Given the description of an element on the screen output the (x, y) to click on. 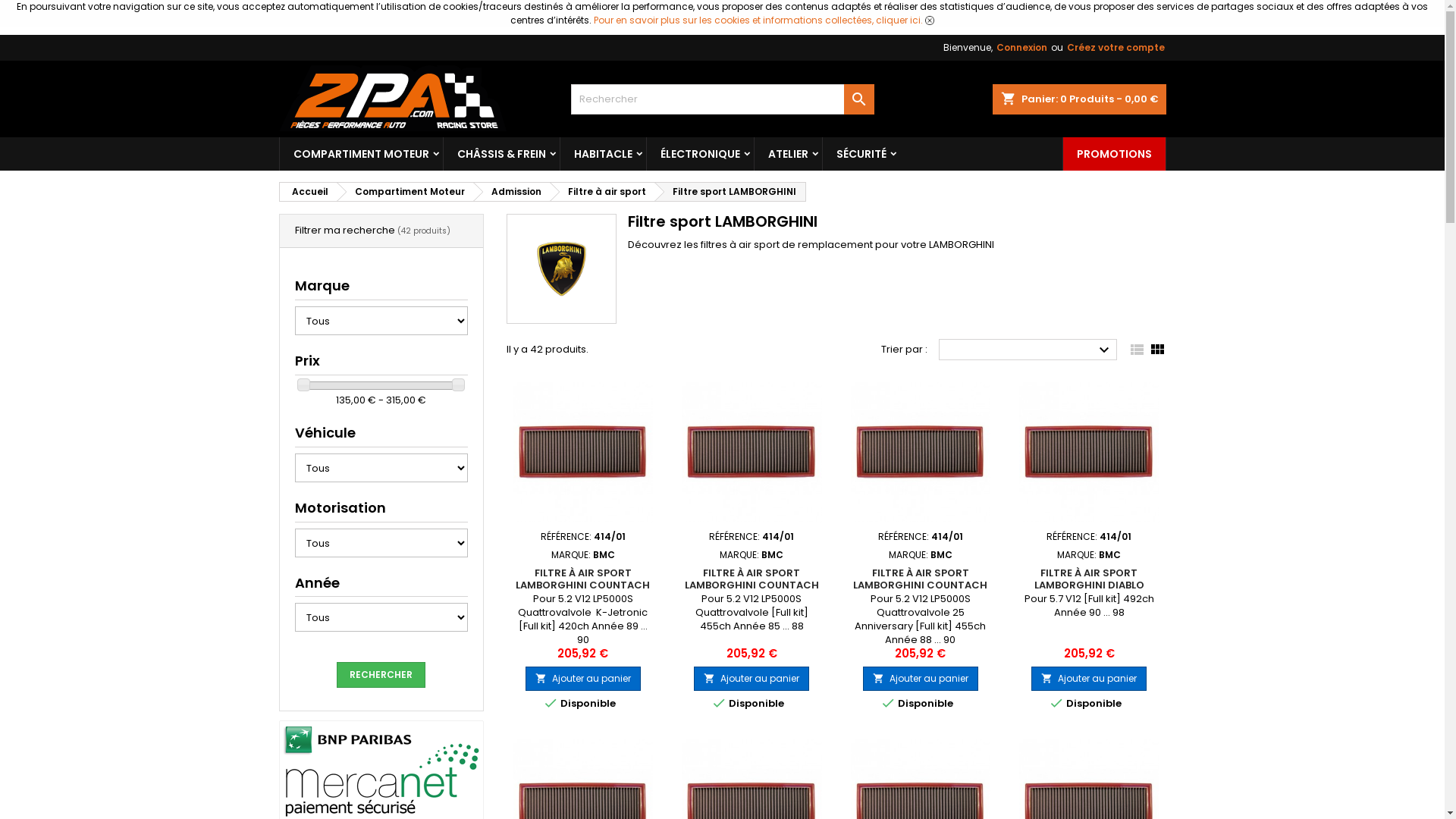
Rechercher Element type: text (380, 674)
ATELIER Element type: text (787, 153)
Admission Element type: text (511, 191)
BMC Element type: text (604, 553)
PROMOTIONS Element type: text (1114, 153)
Compartiment Moteur Element type: text (405, 191)
COMPARTIMENT MOTEUR Element type: text (360, 153)
Filtre sport LAMBORGHINI Element type: text (729, 191)
Accueil Element type: text (307, 191)
HABITACLE Element type: text (602, 153)
BMC Element type: text (772, 553)
BMC Element type: text (1109, 553)
Connexion Element type: text (1021, 47)
BMC Element type: text (941, 553)
